Given the description of an element on the screen output the (x, y) to click on. 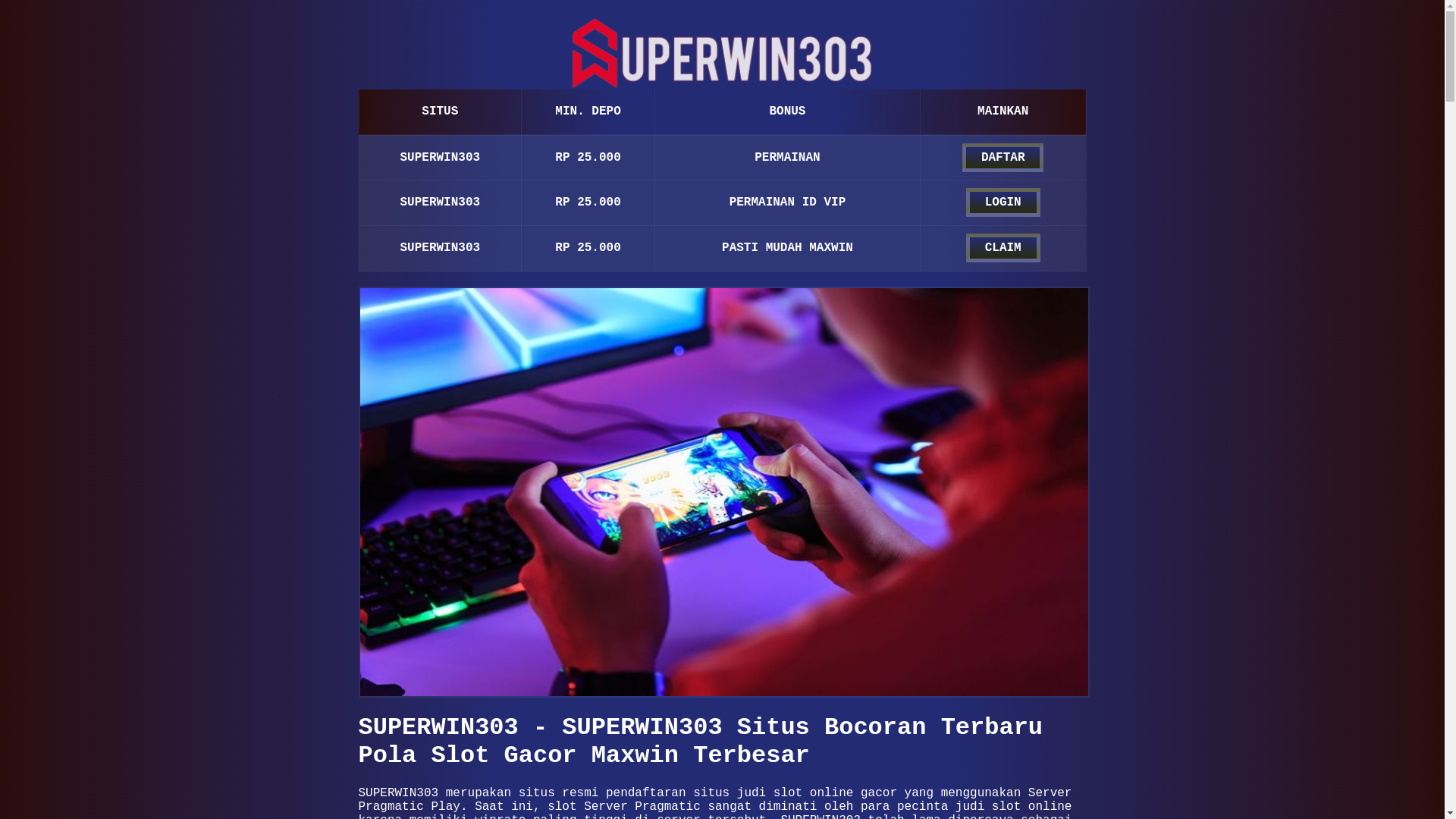
SUPERWIN303 Element type: hover (723, 492)
LOGIN Element type: text (1003, 202)
CLAIM Element type: text (1003, 247)
DAFTAR Element type: text (1003, 157)
